Given the description of an element on the screen output the (x, y) to click on. 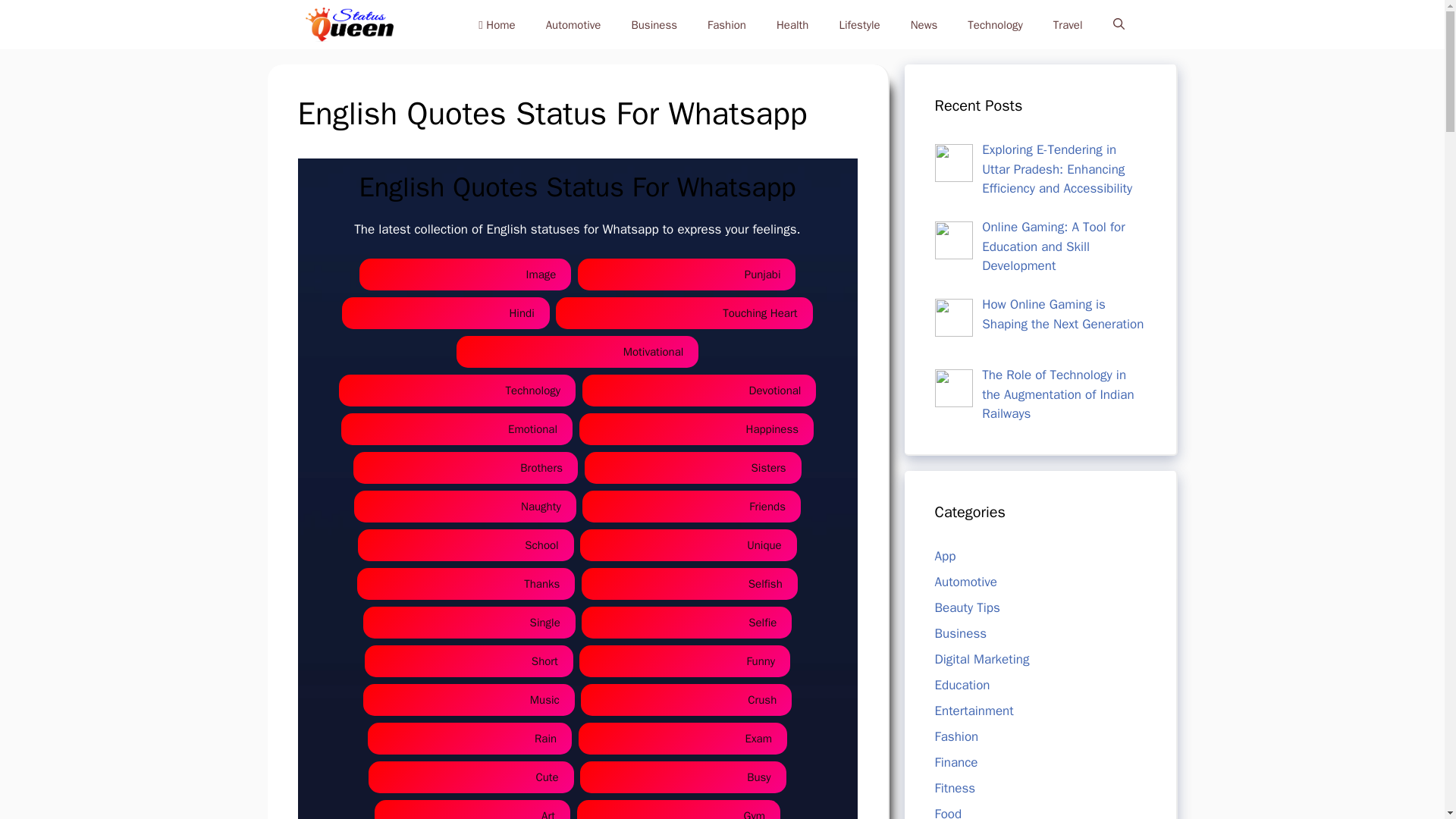
Thanks (465, 584)
Exam (682, 738)
Health (792, 23)
Selfish (688, 584)
Touching Heart (684, 313)
Short (469, 661)
Rain (470, 738)
Music (468, 699)
Technology (995, 23)
Business (654, 23)
Punjabi (687, 274)
Sisters (693, 468)
Unique (687, 545)
Travel (1067, 23)
Hindi (445, 313)
